Given the description of an element on the screen output the (x, y) to click on. 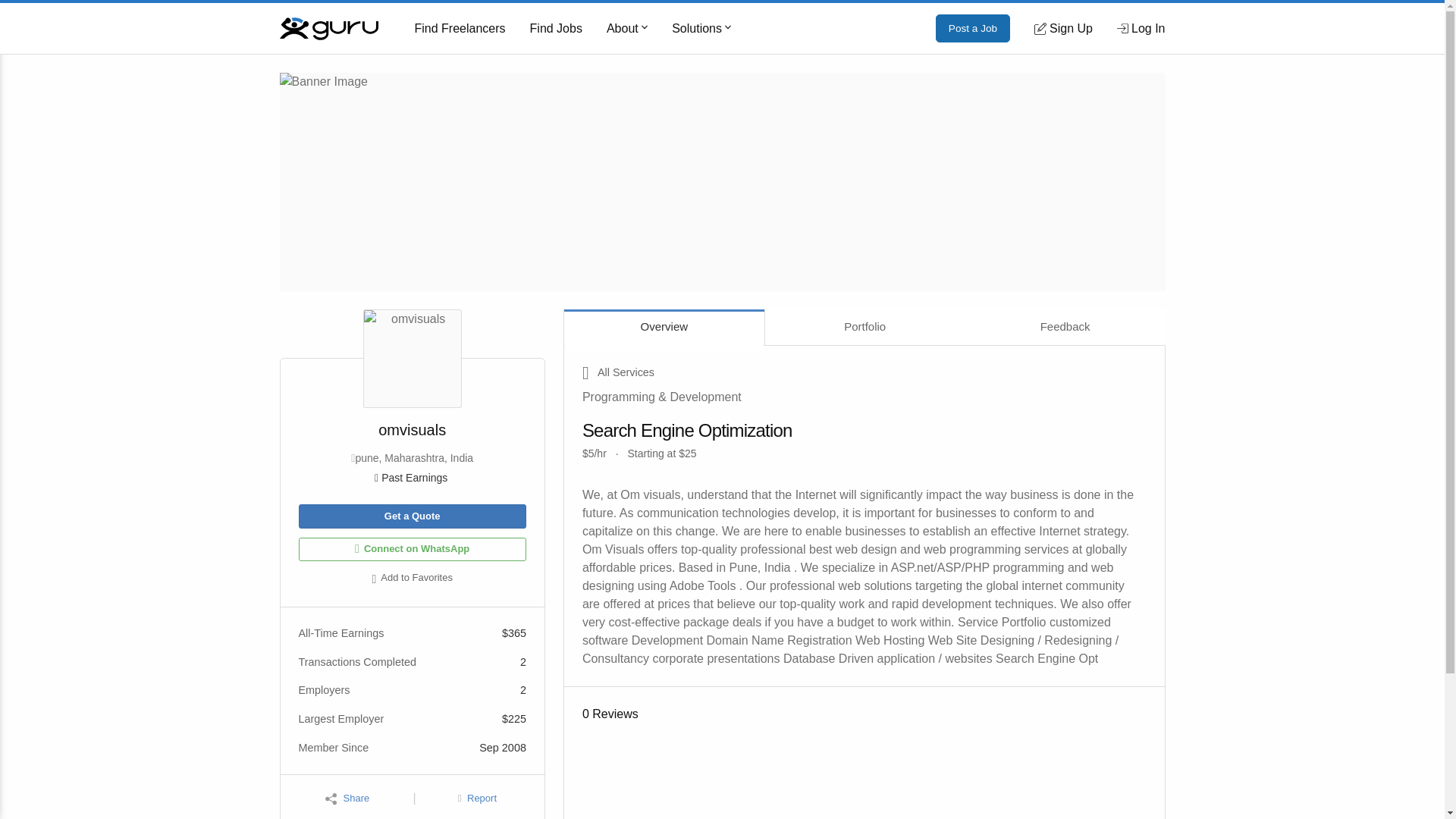
Post a Job (973, 28)
Guru (328, 27)
Find a Freelancer (459, 28)
Find Jobs (555, 28)
Get a Quote (411, 516)
Find Freelancers (459, 28)
Share (347, 798)
Connect on WhatsApp (411, 549)
Find a Job (555, 28)
Sign Up (1063, 28)
